Given the description of an element on the screen output the (x, y) to click on. 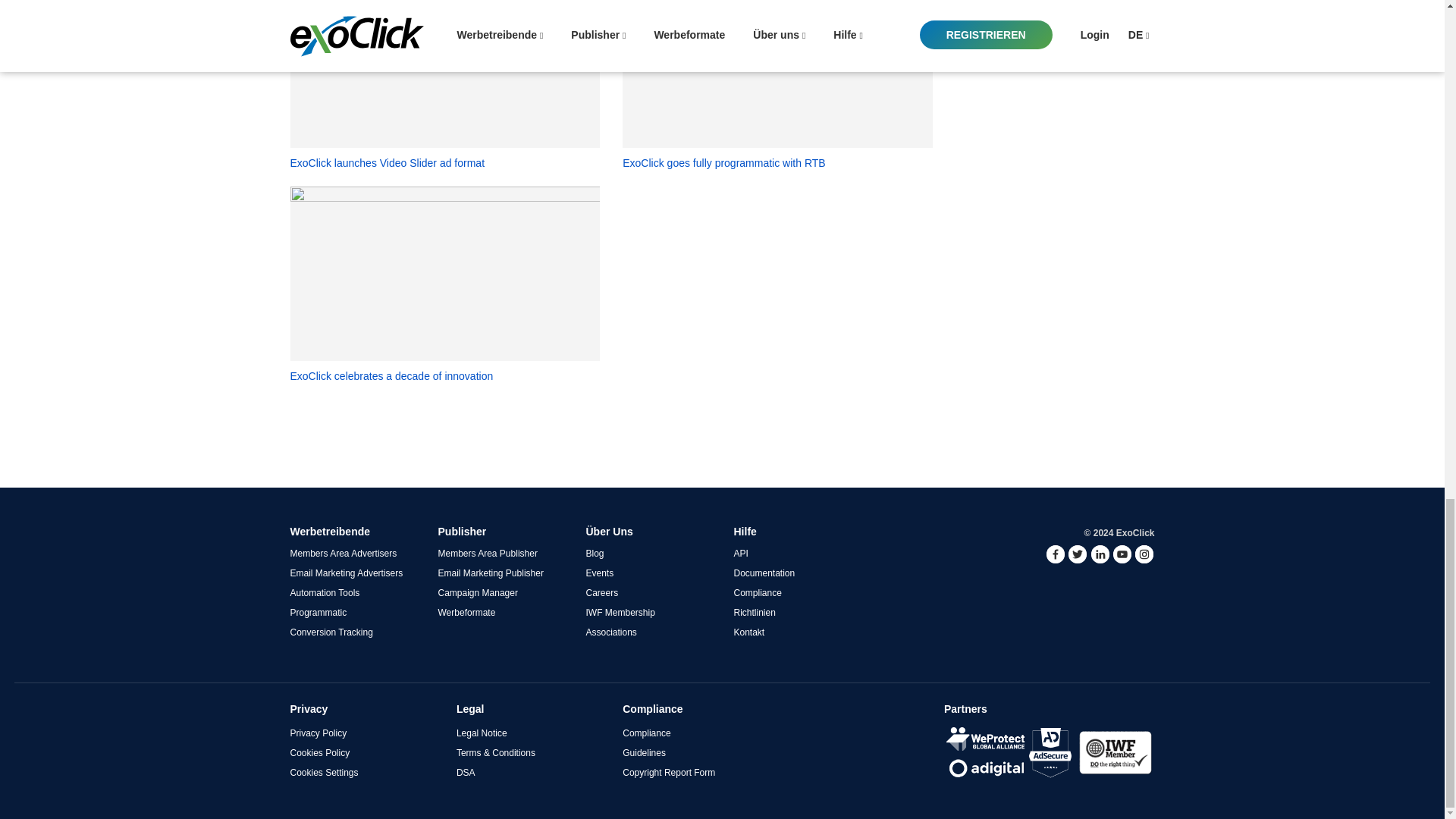
LinkedIn (1099, 554)
Twitter (1077, 554)
Instagram (1144, 554)
Facebook (1055, 554)
Youtube (1122, 554)
